Given the description of an element on the screen output the (x, y) to click on. 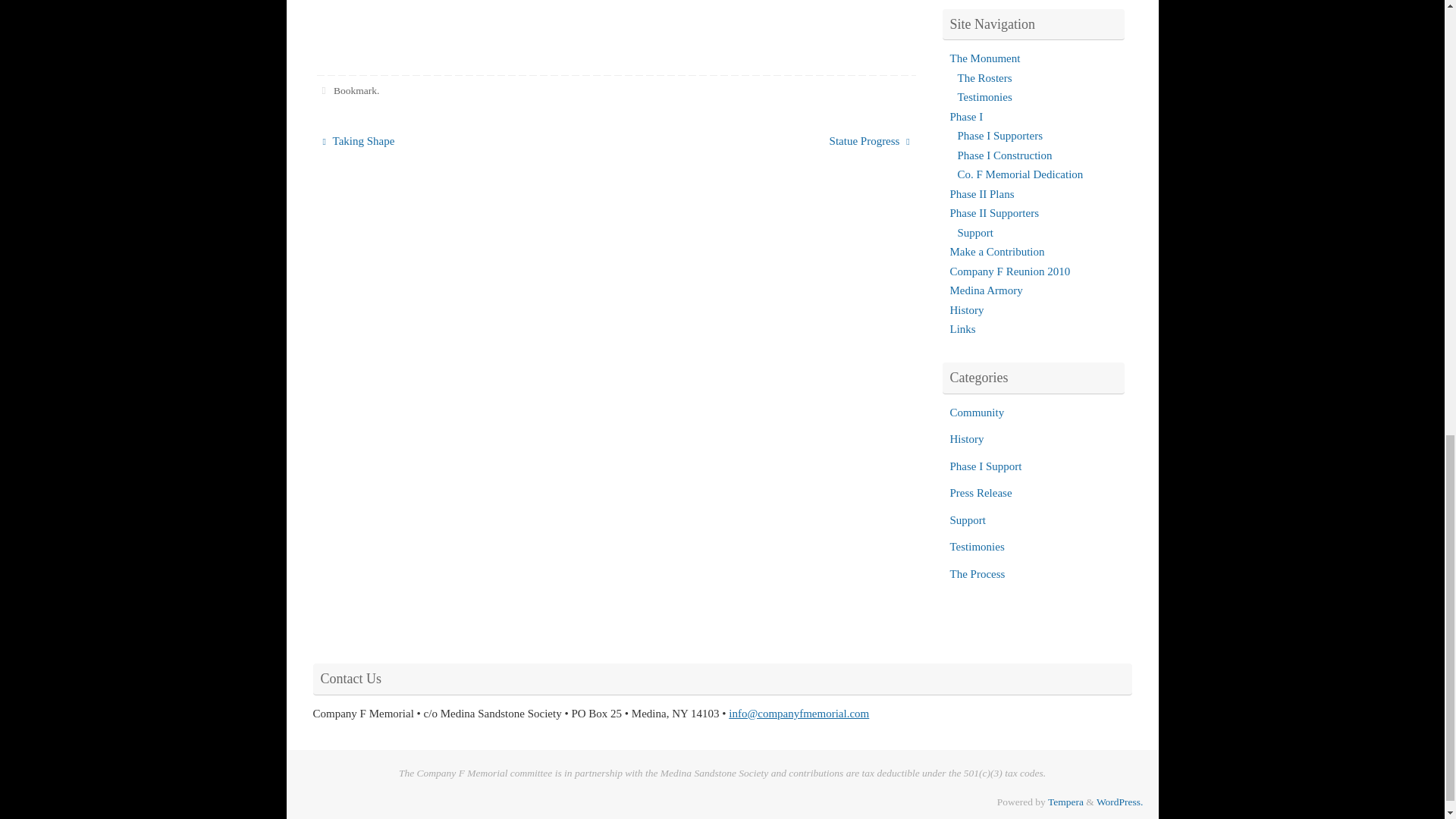
 Bookmark the permalink (324, 90)
Bookmark (355, 90)
Semantic Personal Publishing Platform (1119, 801)
Taking Shape (457, 141)
Tempera Theme by Cryout Creations (1065, 801)
Permalink to Company F Display at the YMCA (355, 90)
Statue Progress (774, 141)
